Given the description of an element on the screen output the (x, y) to click on. 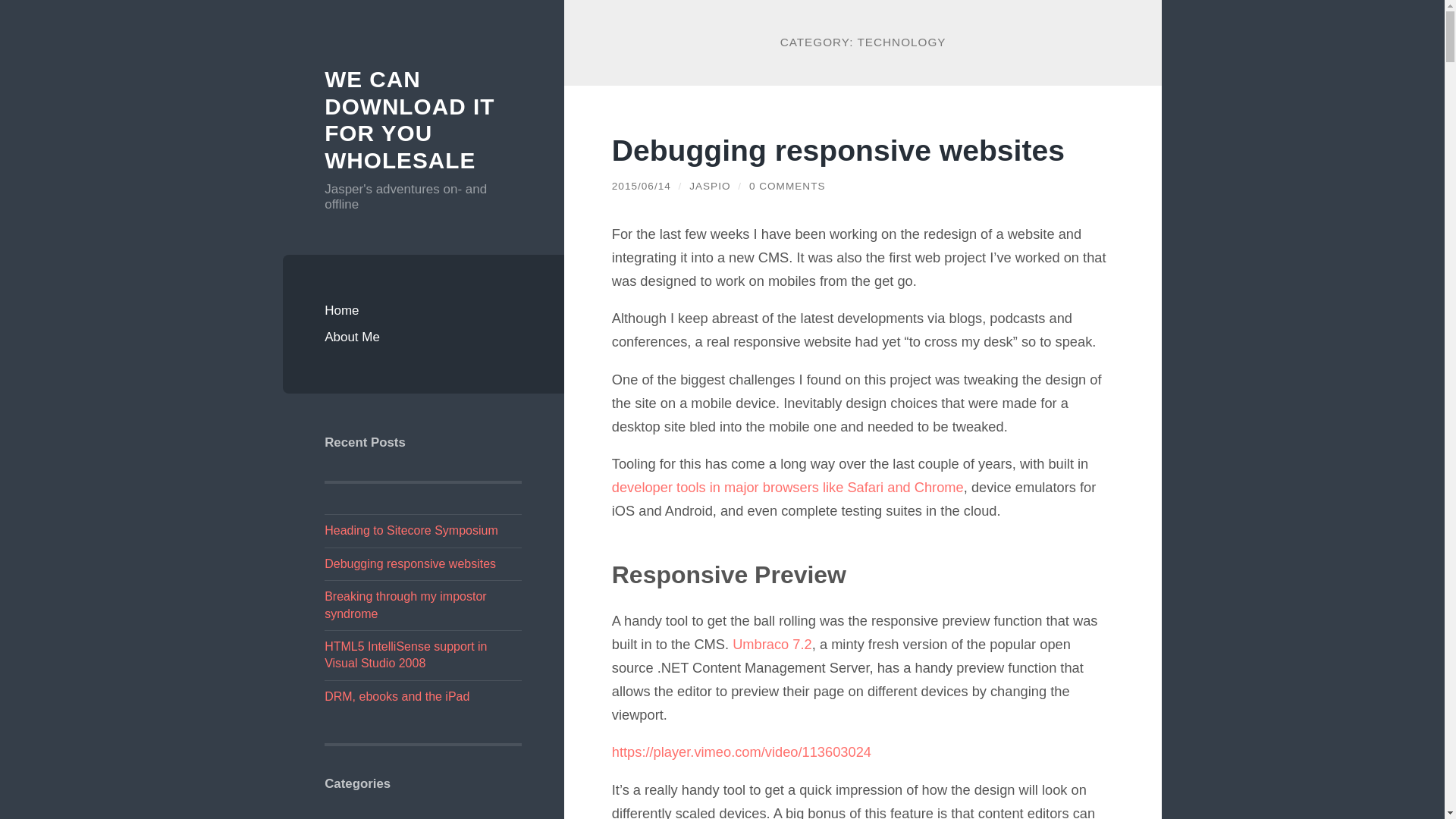
Posts by Jaspio (709, 185)
Home (422, 310)
Umbraco 7.2 (772, 643)
developer tools in major browsers like Safari and Chrome (787, 487)
WE CAN DOWNLOAD IT FOR YOU WHOLESALE (409, 119)
Heading to Sitecore Symposium (410, 530)
Debugging responsive websites (837, 150)
HTML5 IntelliSense support in Visual Studio 2008 (405, 654)
Debugging responsive websites (410, 563)
About Me (422, 337)
JASPIO (709, 185)
DRM, ebooks and the iPad (396, 696)
0 COMMENTS (787, 185)
Breaking through my impostor syndrome (405, 604)
